Given the description of an element on the screen output the (x, y) to click on. 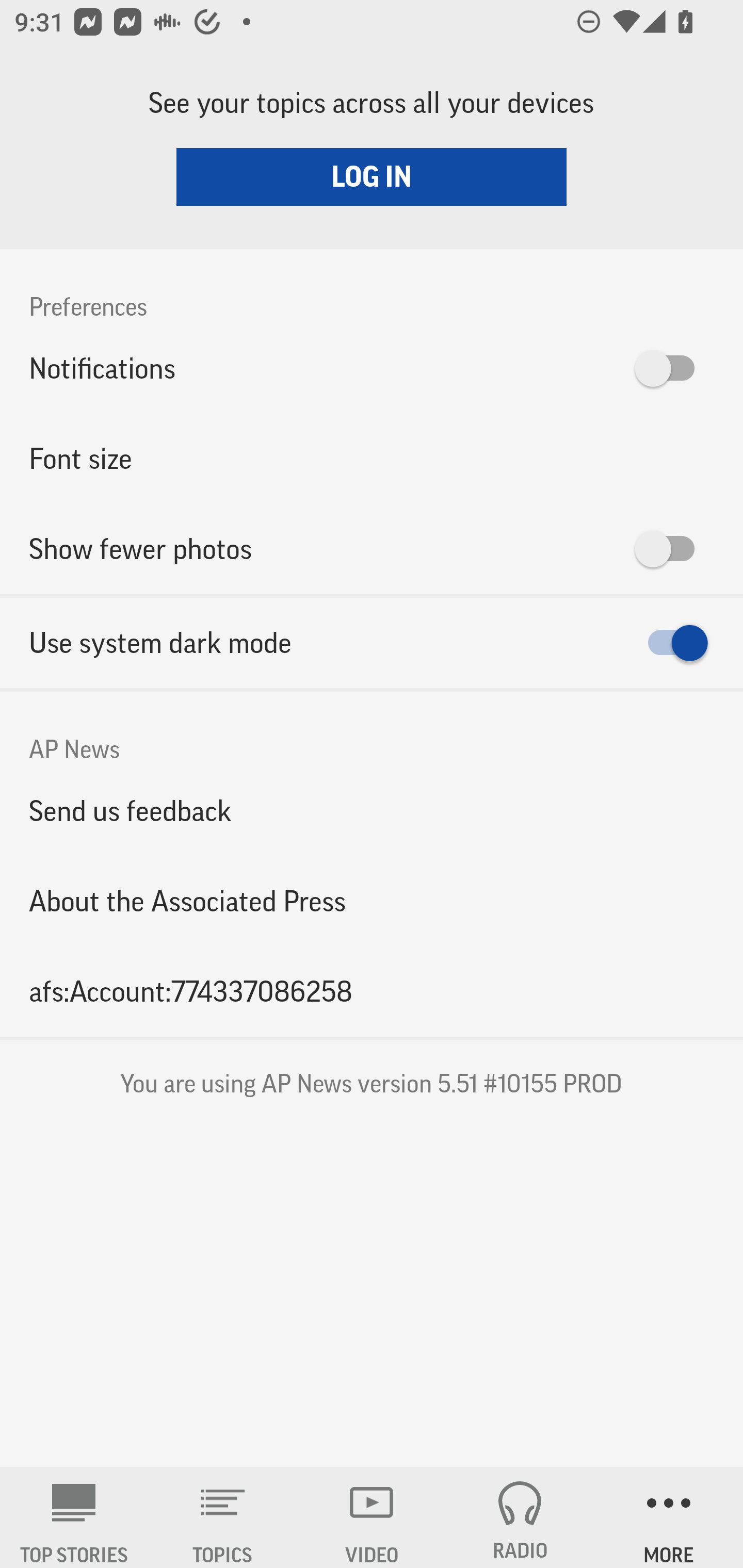
LOG IN (371, 176)
Notifications (371, 368)
Font size (371, 458)
Show fewer photos (371, 548)
Use system dark mode (371, 642)
Send us feedback (371, 810)
About the Associated Press (371, 901)
afs:Account:774337086258 (371, 991)
AP News TOP STORIES (74, 1517)
TOPICS (222, 1517)
VIDEO (371, 1517)
RADIO (519, 1517)
MORE (668, 1517)
